Given the description of an element on the screen output the (x, y) to click on. 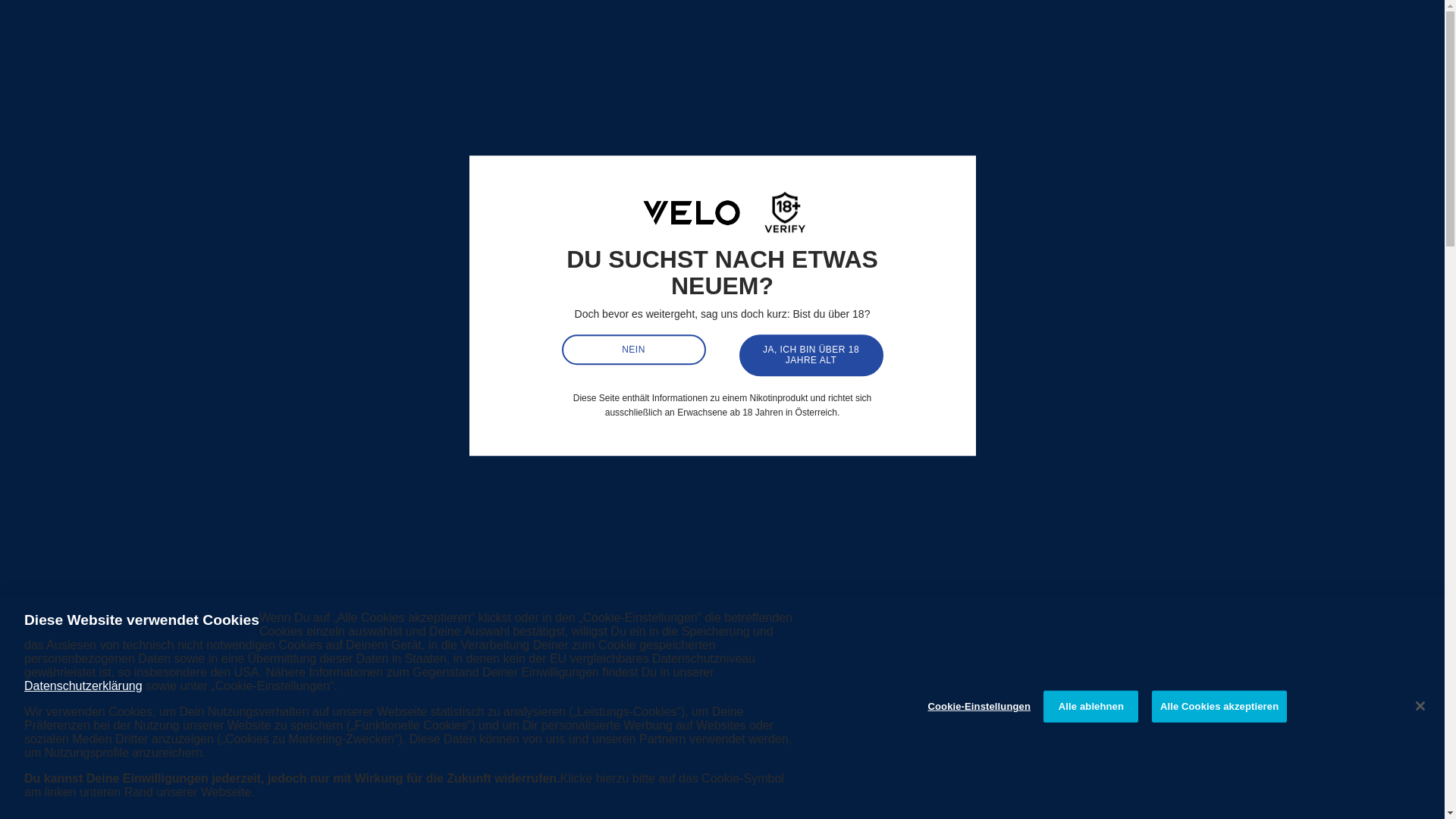
Store Finder (1289, 27)
POP TUCK FEEL (417, 79)
FREE TRIAL (158, 79)
FESTIVALS (1270, 79)
WEIRDLY WONDERFUL WORLD (733, 79)
Einloggen (1253, 27)
Suchen (1202, 27)
